Given the description of an element on the screen output the (x, y) to click on. 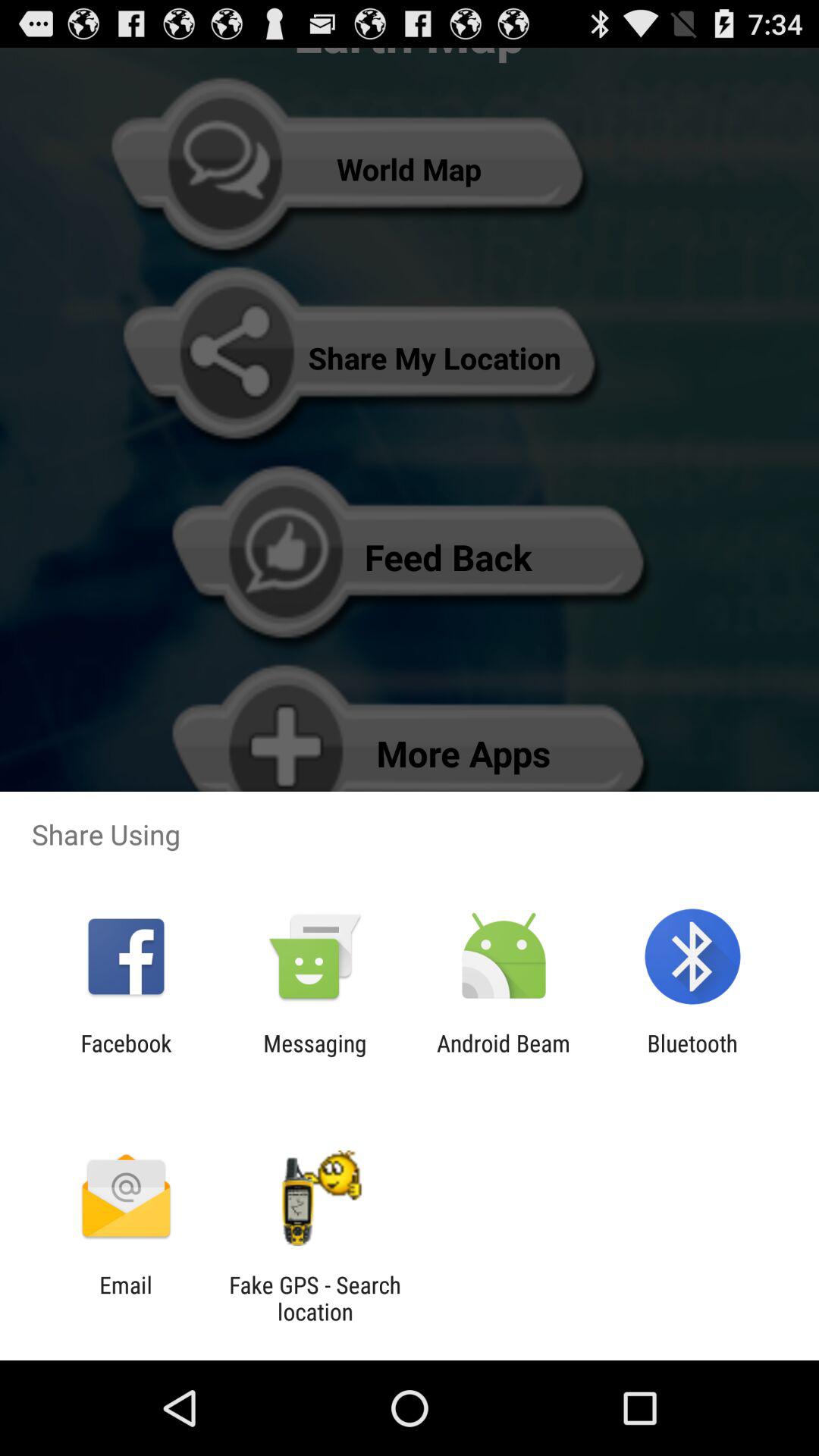
launch item to the left of fake gps search item (125, 1298)
